Given the description of an element on the screen output the (x, y) to click on. 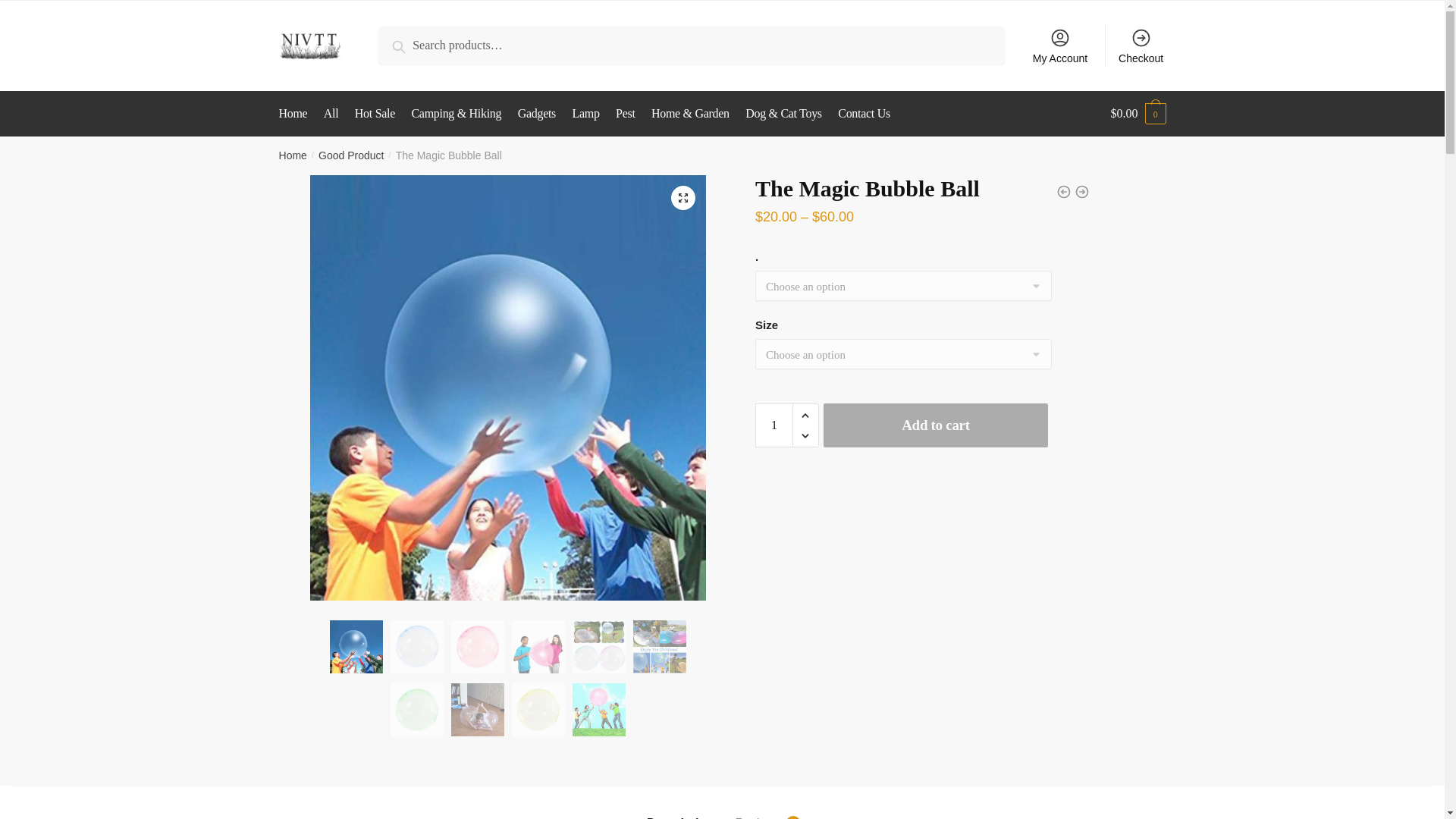
Search (413, 43)
Contact Us (863, 113)
Description (679, 802)
View your shopping cart (1137, 113)
Add to cart (936, 425)
Home (293, 155)
Good Product (351, 155)
Checkout (1141, 45)
Hot Sale (375, 113)
Gadgets (537, 113)
My Account (1060, 45)
